Given the description of an element on the screen output the (x, y) to click on. 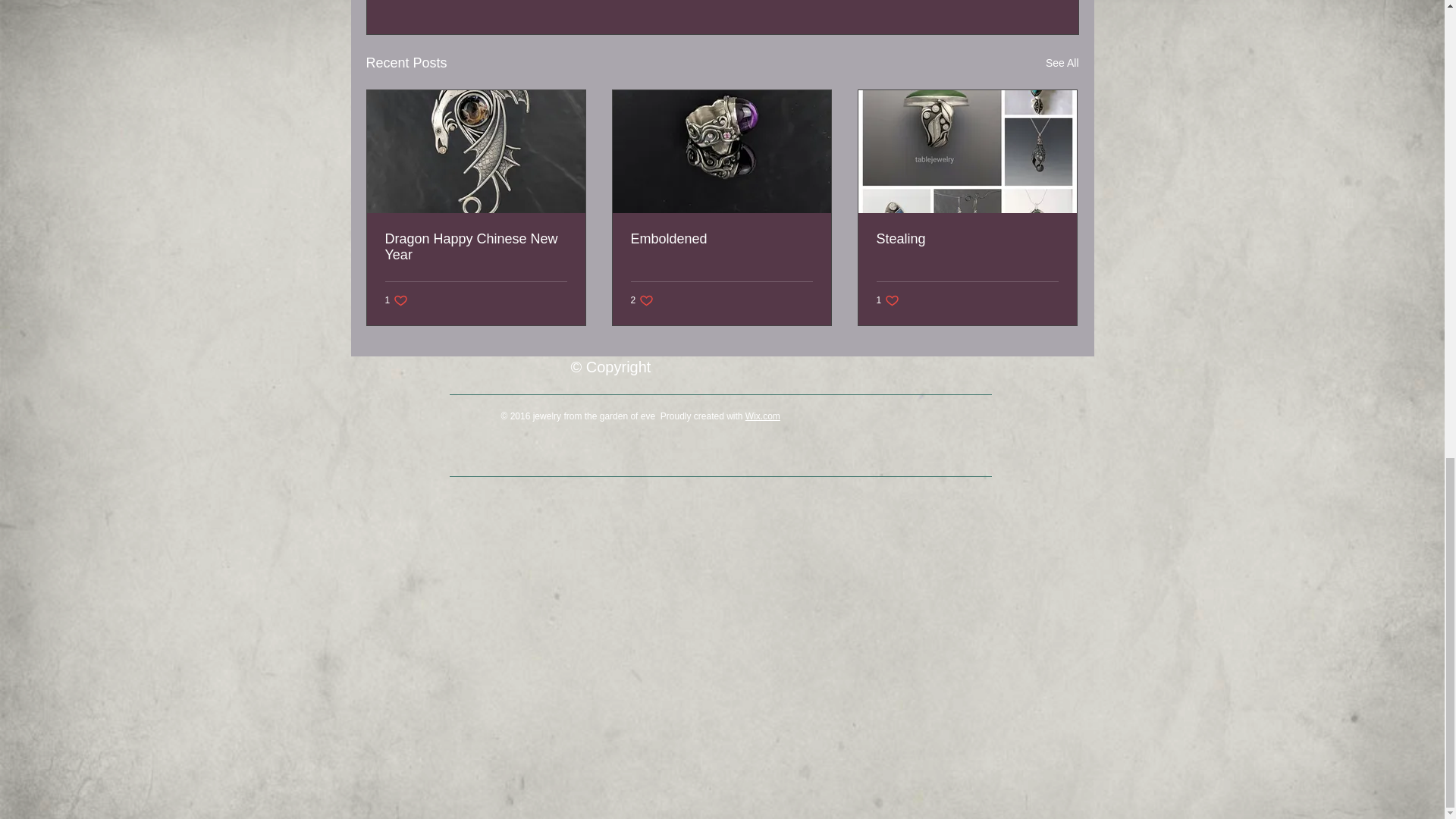
Dragon Happy Chinese New Year (476, 246)
See All (1061, 63)
Emboldened (721, 238)
Wix.com (641, 300)
Stealing (397, 300)
